Given the description of an element on the screen output the (x, y) to click on. 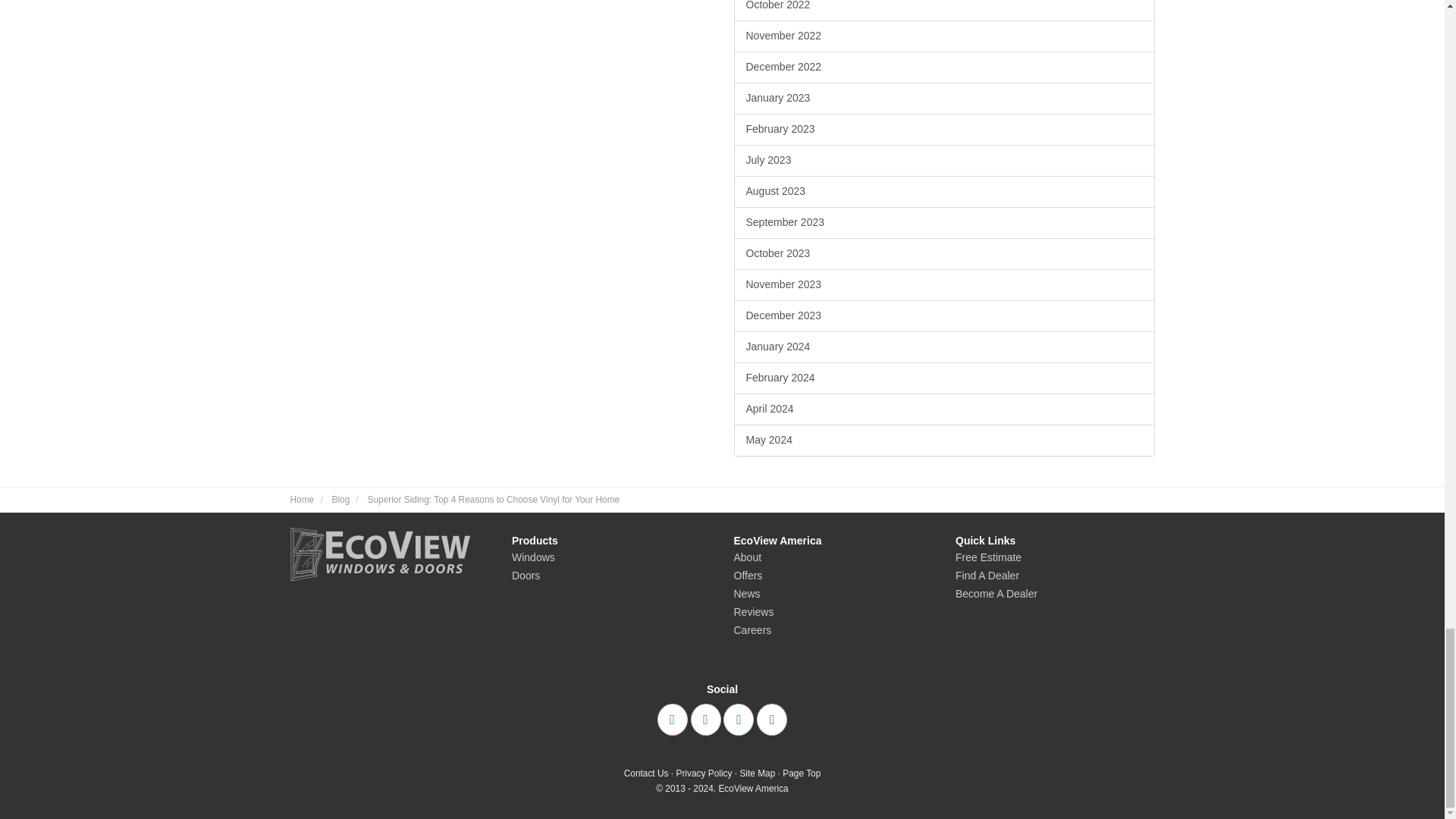
Houzz (772, 719)
Twitter (705, 719)
Facebook (672, 719)
Linkedin (738, 719)
